Given the description of an element on the screen output the (x, y) to click on. 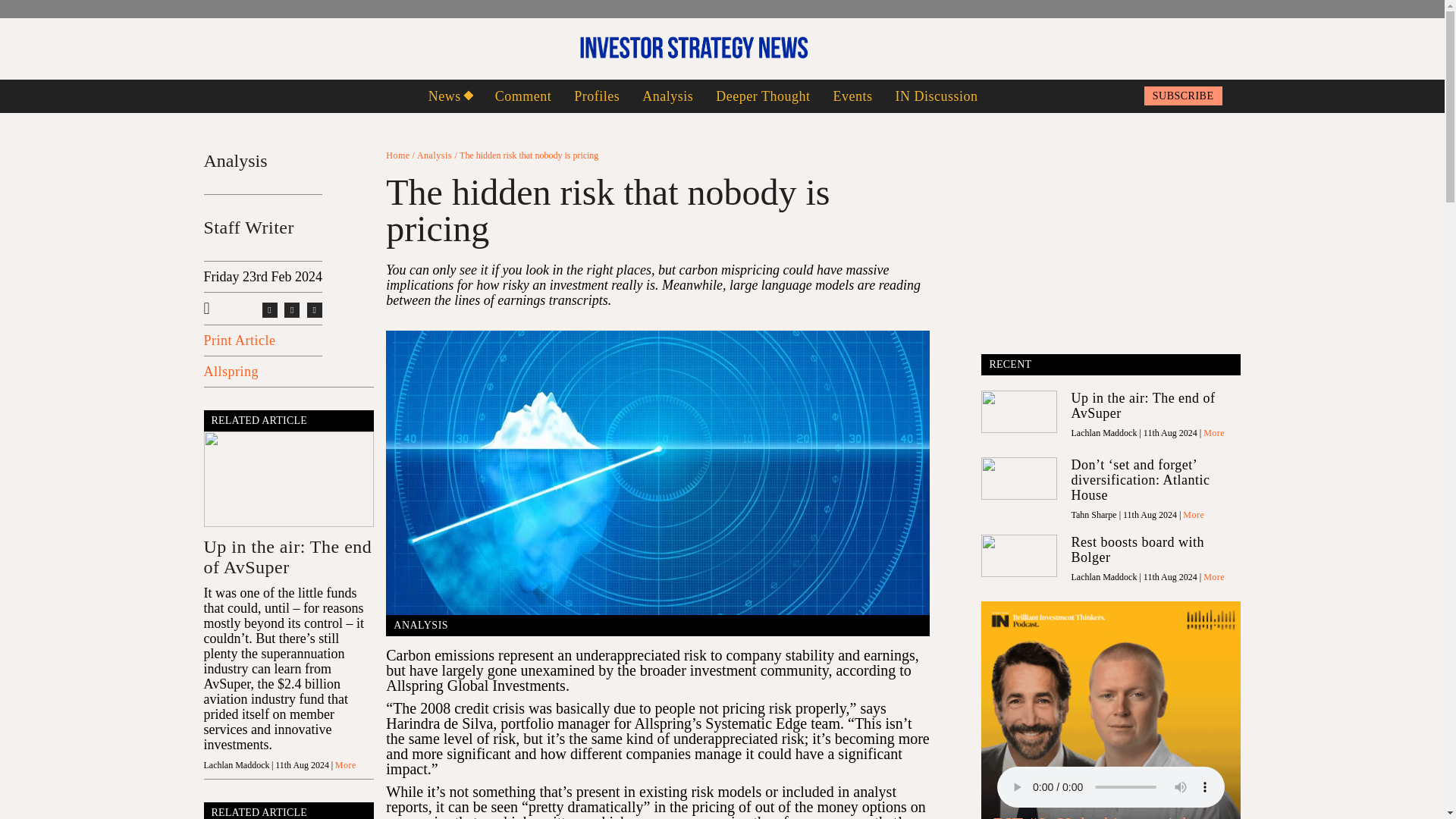
Comment (523, 96)
Print Article (239, 340)
Staff Writer (248, 227)
SUBSCRIBE (1183, 95)
Analysis (667, 96)
Profiles (596, 96)
News (449, 96)
Events (852, 96)
Deeper Thought (762, 96)
IN Discussion (935, 96)
